Given the description of an element on the screen output the (x, y) to click on. 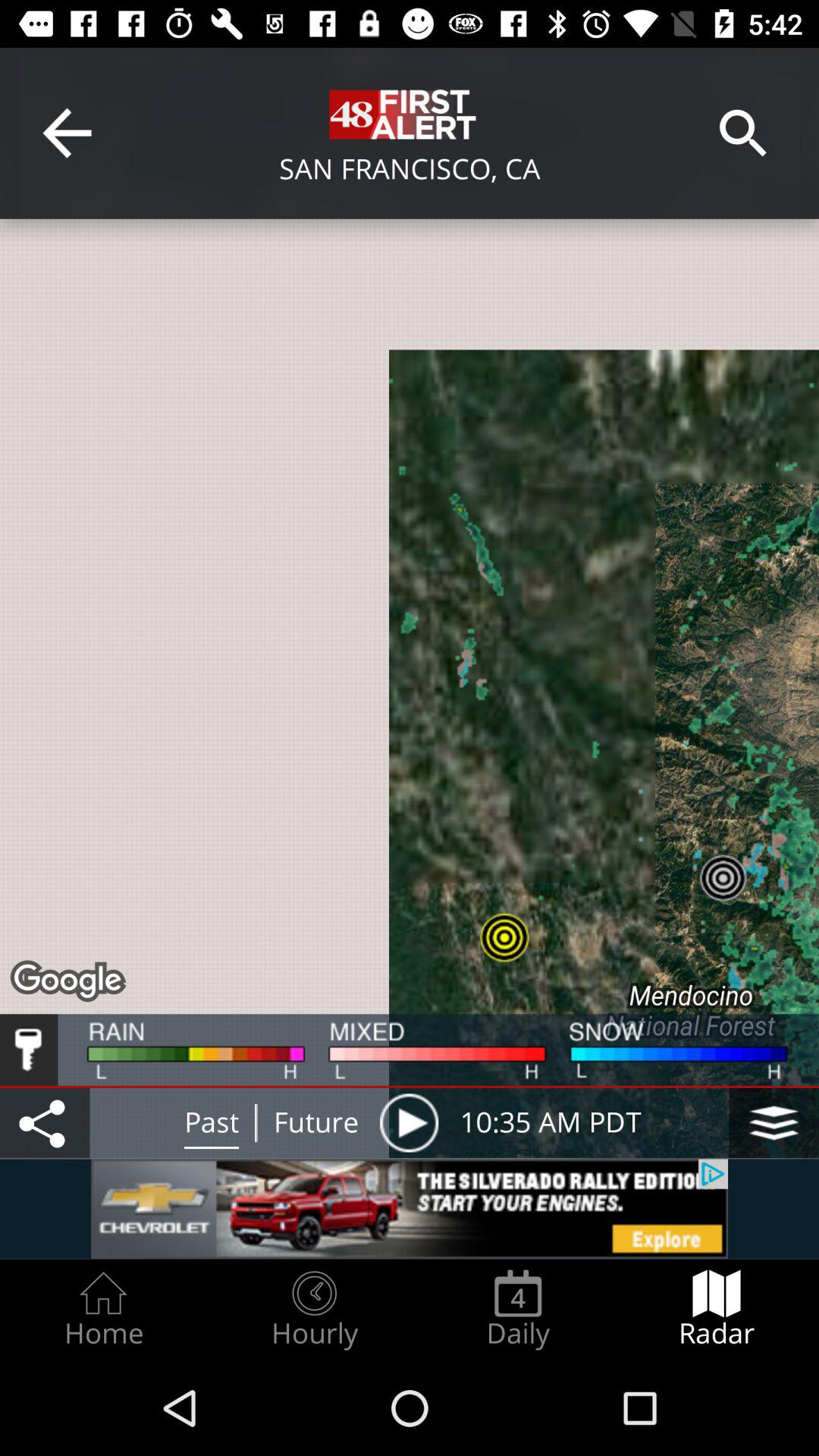
choose the icon to the right of daily item (716, 1309)
